Given the description of an element on the screen output the (x, y) to click on. 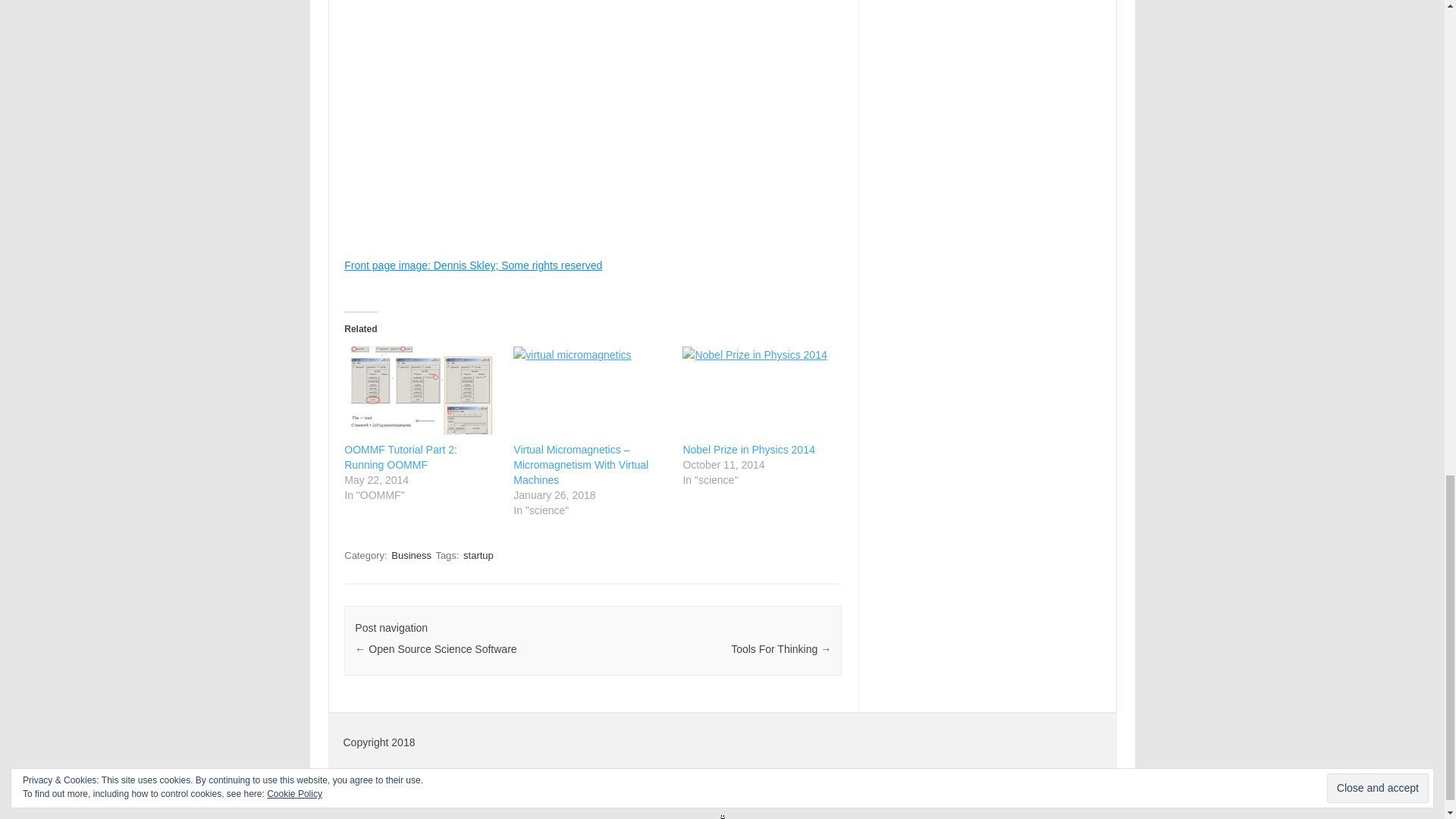
Some rights reserved (551, 52)
Wordpress (1091, 784)
OOMMF Tutorial Part 2: Running OOMMF (400, 456)
Go to Dennis Skley's photostream (421, 52)
startup (478, 554)
Nobel Prize in Physics 2014 (747, 449)
OOMMF Tutorial Part 2: Running OOMMF (420, 390)
Nobel Prize in Physics 2014 (747, 449)
Front page image: Dennis Skley; (421, 52)
OOMMF Tutorial Part 2: Running OOMMF (400, 456)
Iconic One (947, 784)
Advertisement (592, 183)
Business (411, 554)
Nobel Prize in Physics 2014 (758, 390)
